Given the description of an element on the screen output the (x, y) to click on. 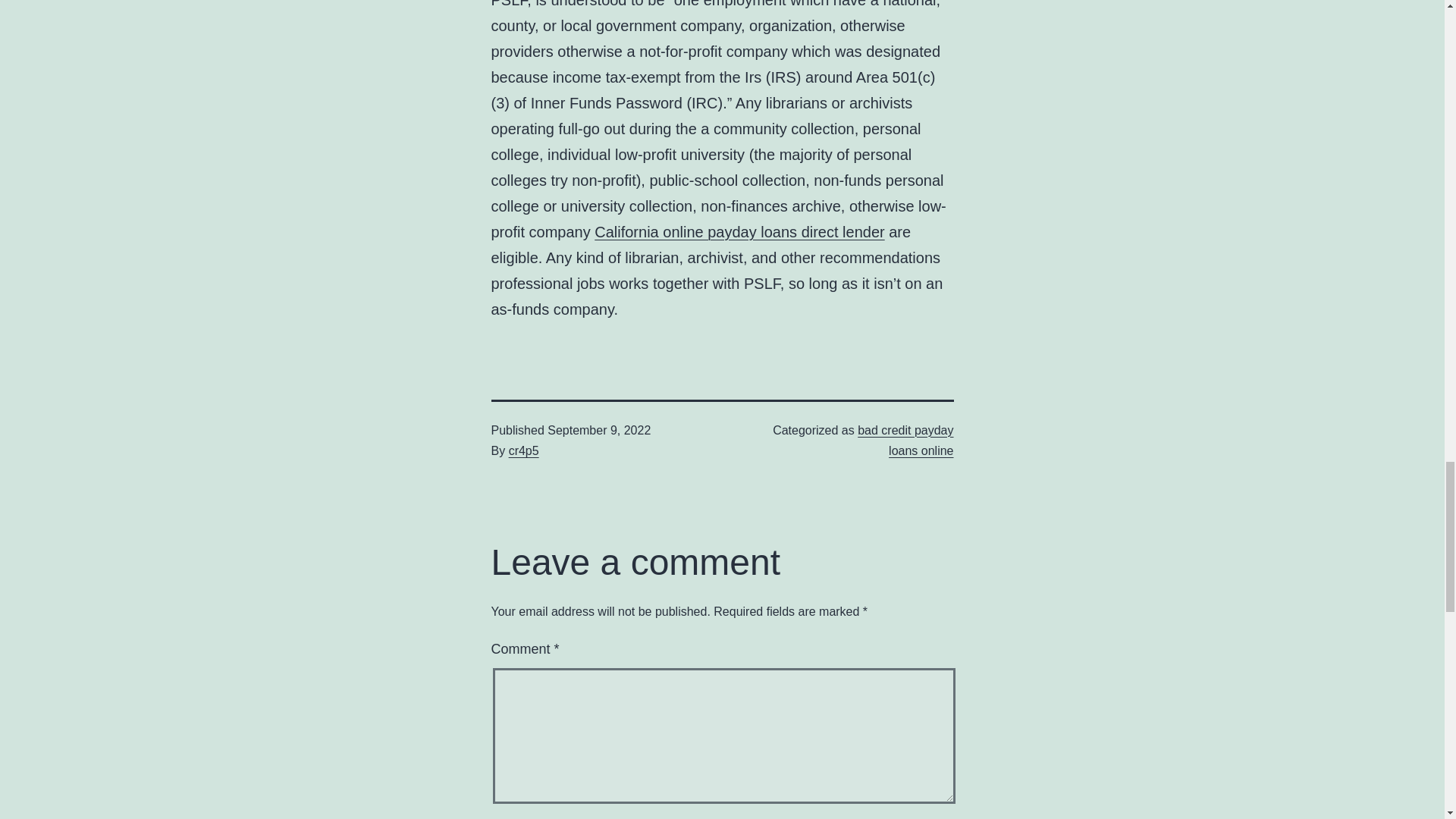
California online payday loans direct lender (738, 231)
bad credit payday loans online (905, 440)
cr4p5 (523, 450)
